Given the description of an element on the screen output the (x, y) to click on. 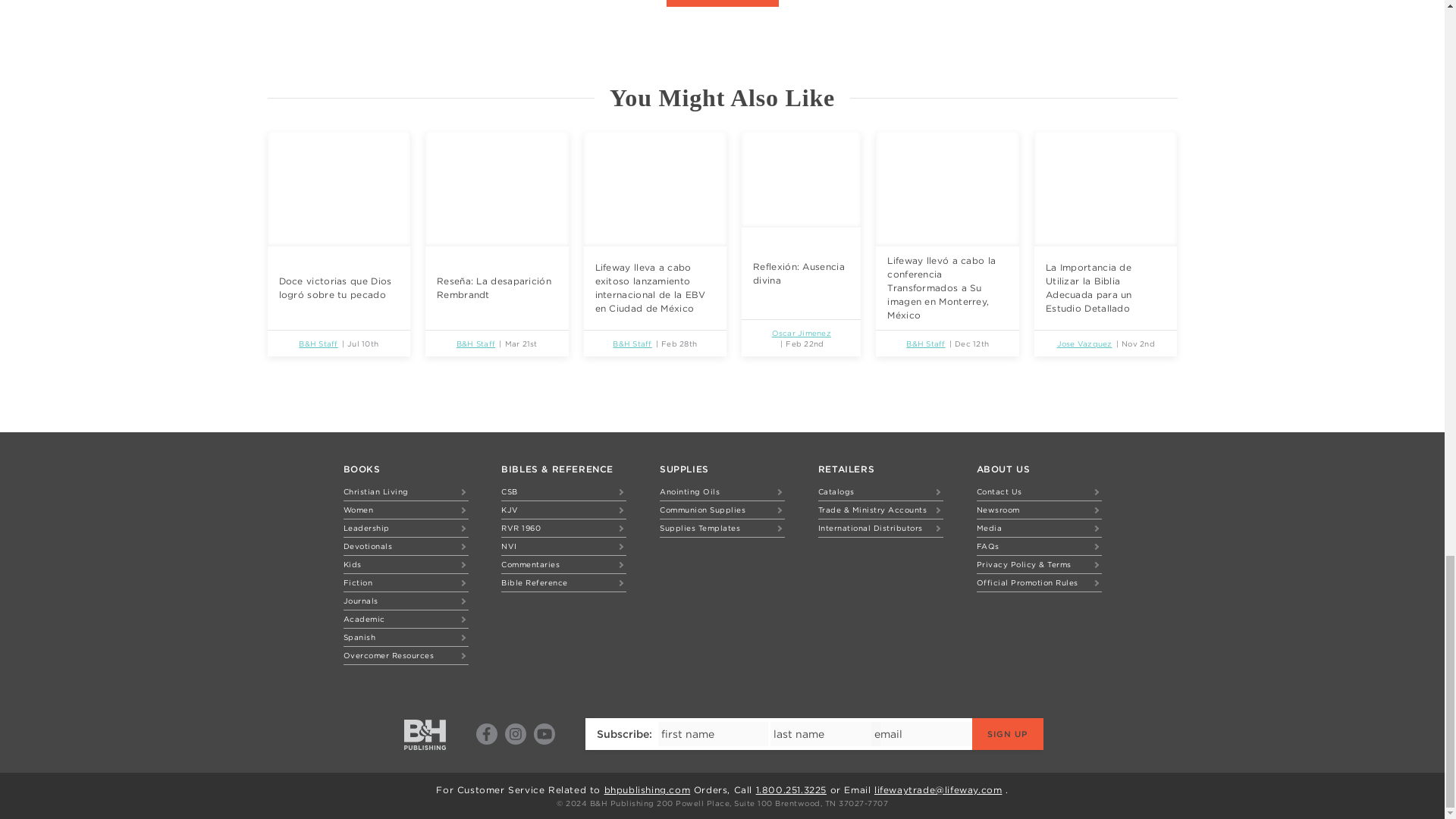
KJV (563, 509)
Spanish (404, 637)
Kids (404, 564)
Go Back to Homepage (424, 734)
Fiction (404, 582)
ALL POSTS (721, 3)
Devotionals (404, 546)
Overcomer Resources (404, 655)
NEXT POST (834, 3)
Journals (404, 600)
BOOKS (361, 469)
Christian Living (404, 491)
LAST POST (609, 3)
Women (404, 509)
Academic (404, 619)
